Given the description of an element on the screen output the (x, y) to click on. 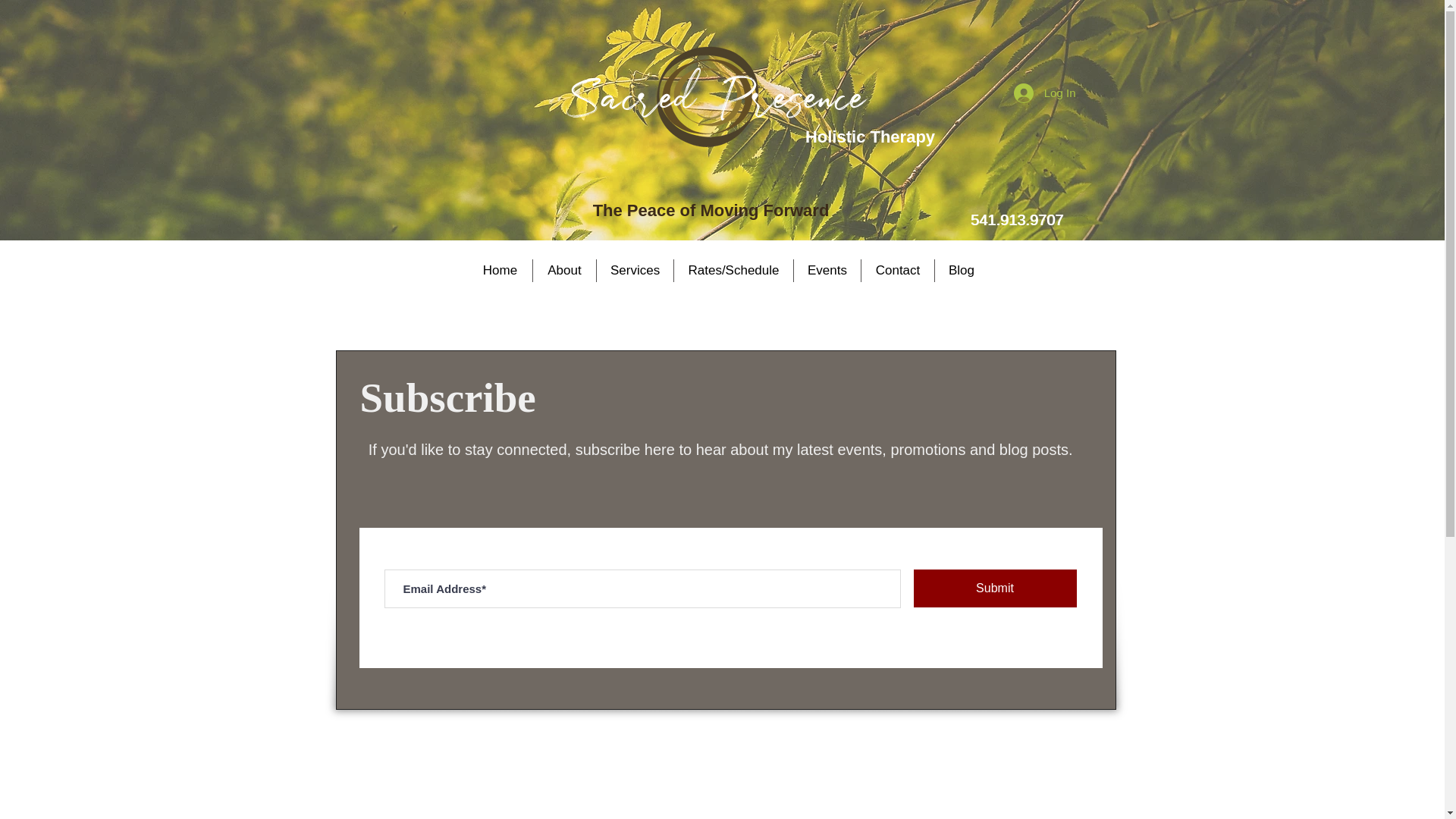
Home (499, 270)
Blog (961, 270)
Submit (993, 588)
Log In (1044, 92)
